Given the description of an element on the screen output the (x, y) to click on. 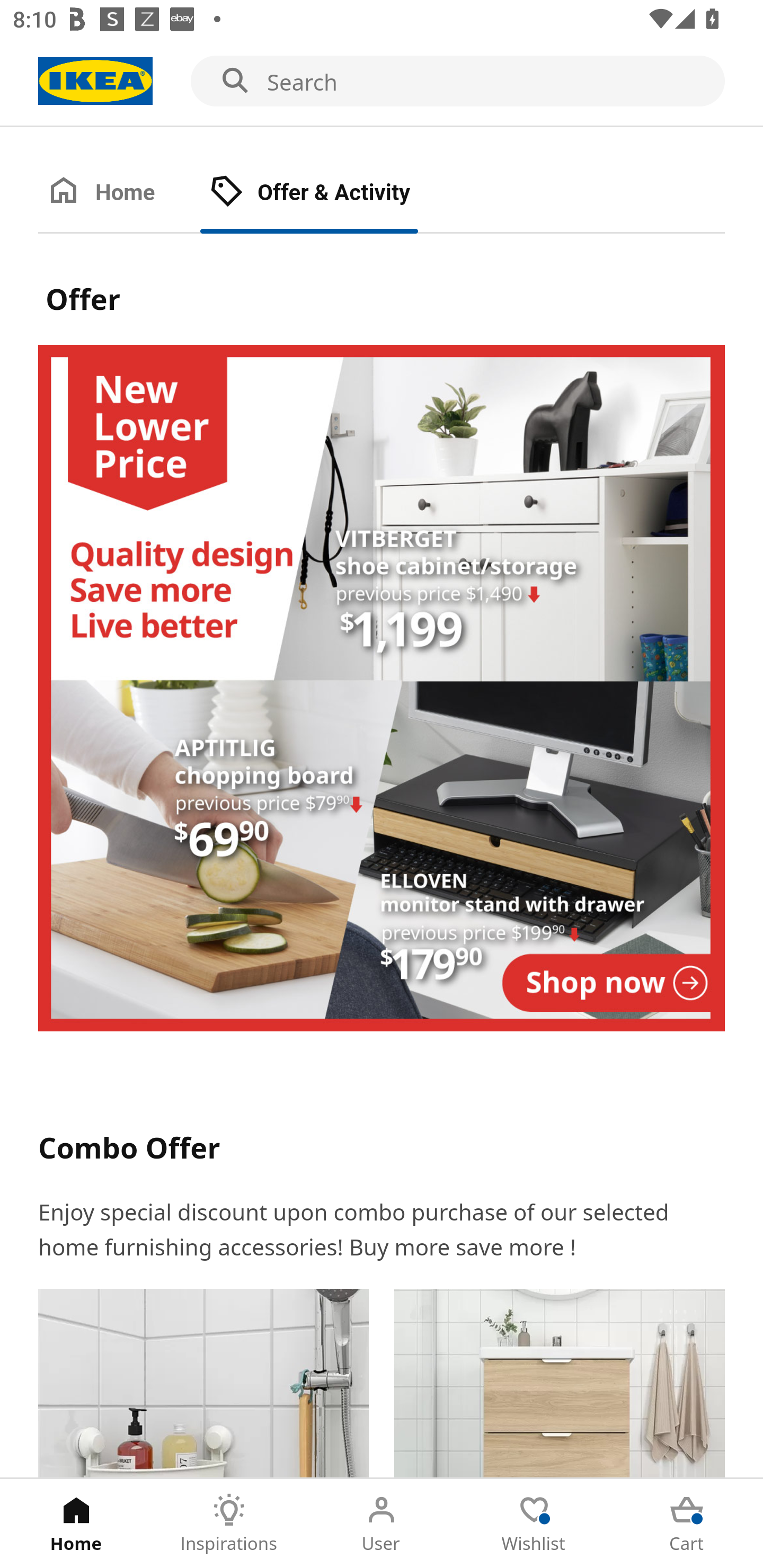
Search (381, 81)
Home
Tab 1 of 2 (118, 192)
Offer & Activity
Tab 2 of 2 (327, 192)
Home
Tab 1 of 5 (76, 1522)
Inspirations
Tab 2 of 5 (228, 1522)
User
Tab 3 of 5 (381, 1522)
Wishlist
Tab 4 of 5 (533, 1522)
Cart
Tab 5 of 5 (686, 1522)
